Given the description of an element on the screen output the (x, y) to click on. 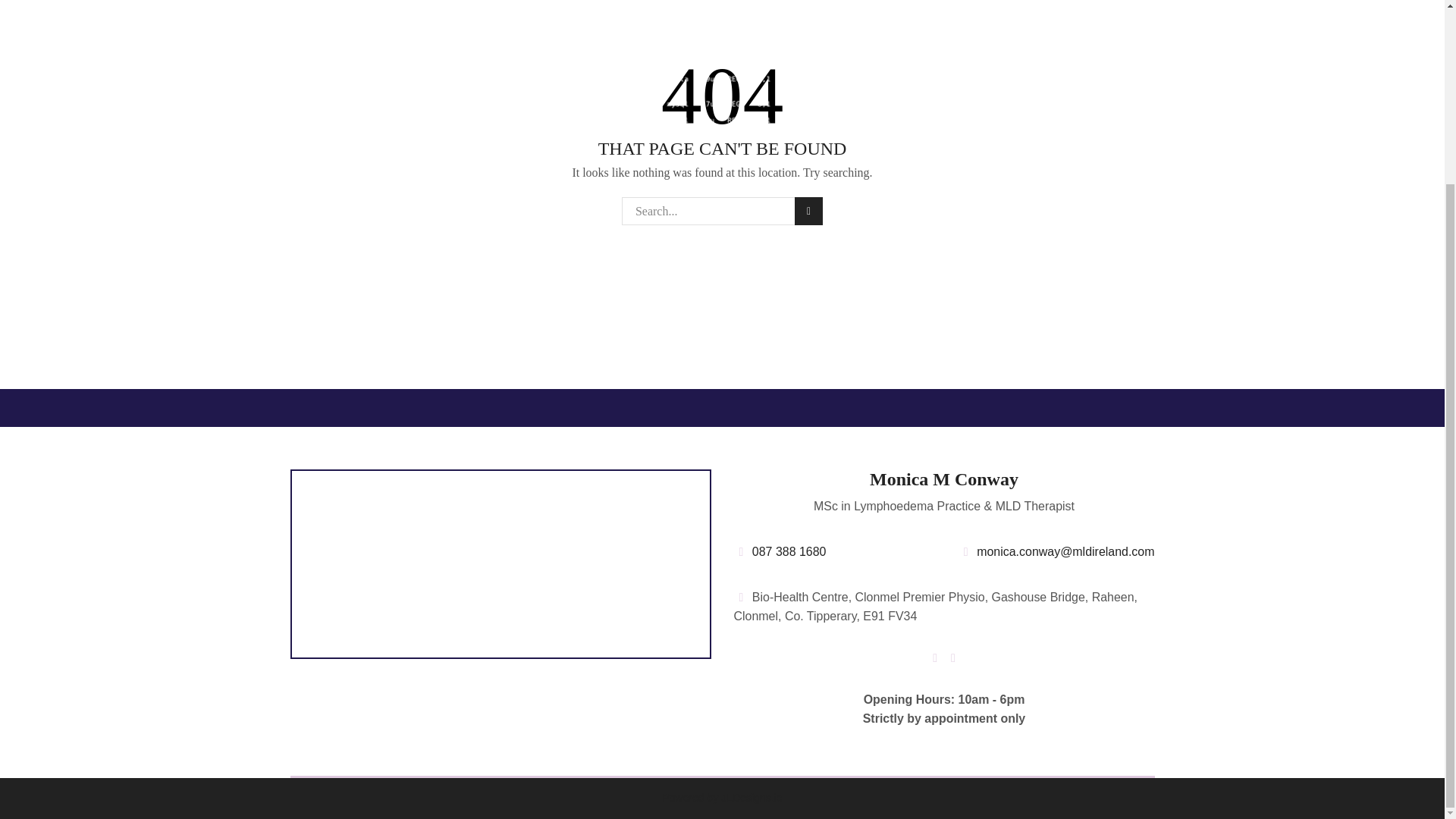
SEARCH (808, 211)
Log in (890, 14)
087 388 1680 (780, 551)
